Given the description of an element on the screen output the (x, y) to click on. 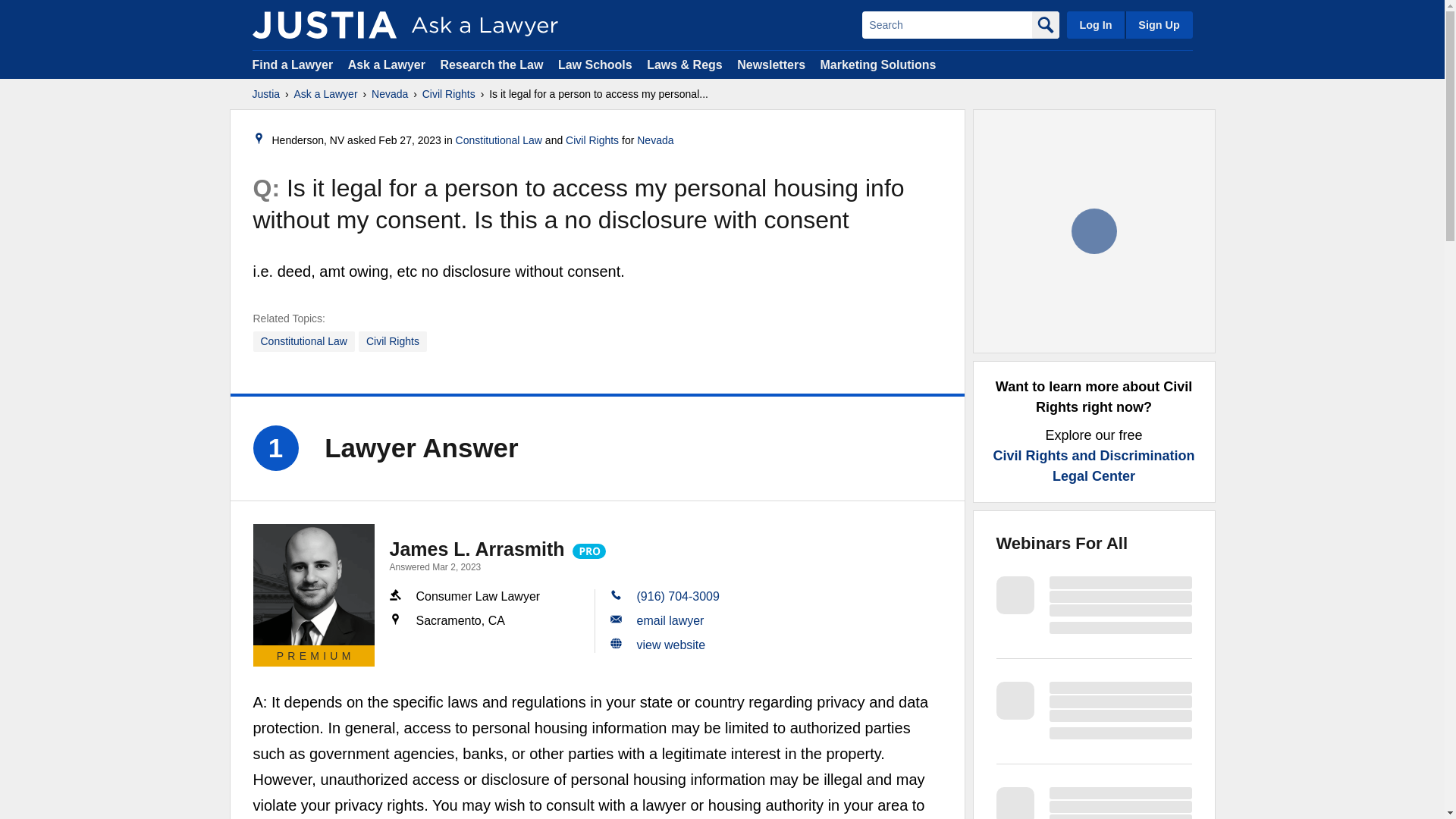
2023-02-27T10:09:10-08:00 (409, 140)
Justia (265, 93)
email lawyer (670, 620)
Civil Rights (592, 140)
Newsletters (770, 64)
James L. Arrasmith (477, 548)
Nevada (389, 93)
Sign Up (1158, 24)
Constitutional Law (304, 341)
Civil Rights (392, 341)
Ask a Lawyer (326, 93)
Marketing Solutions (877, 64)
Nevada (654, 140)
Log In (1094, 24)
Ask a Lawyer (388, 64)
